Given the description of an element on the screen output the (x, y) to click on. 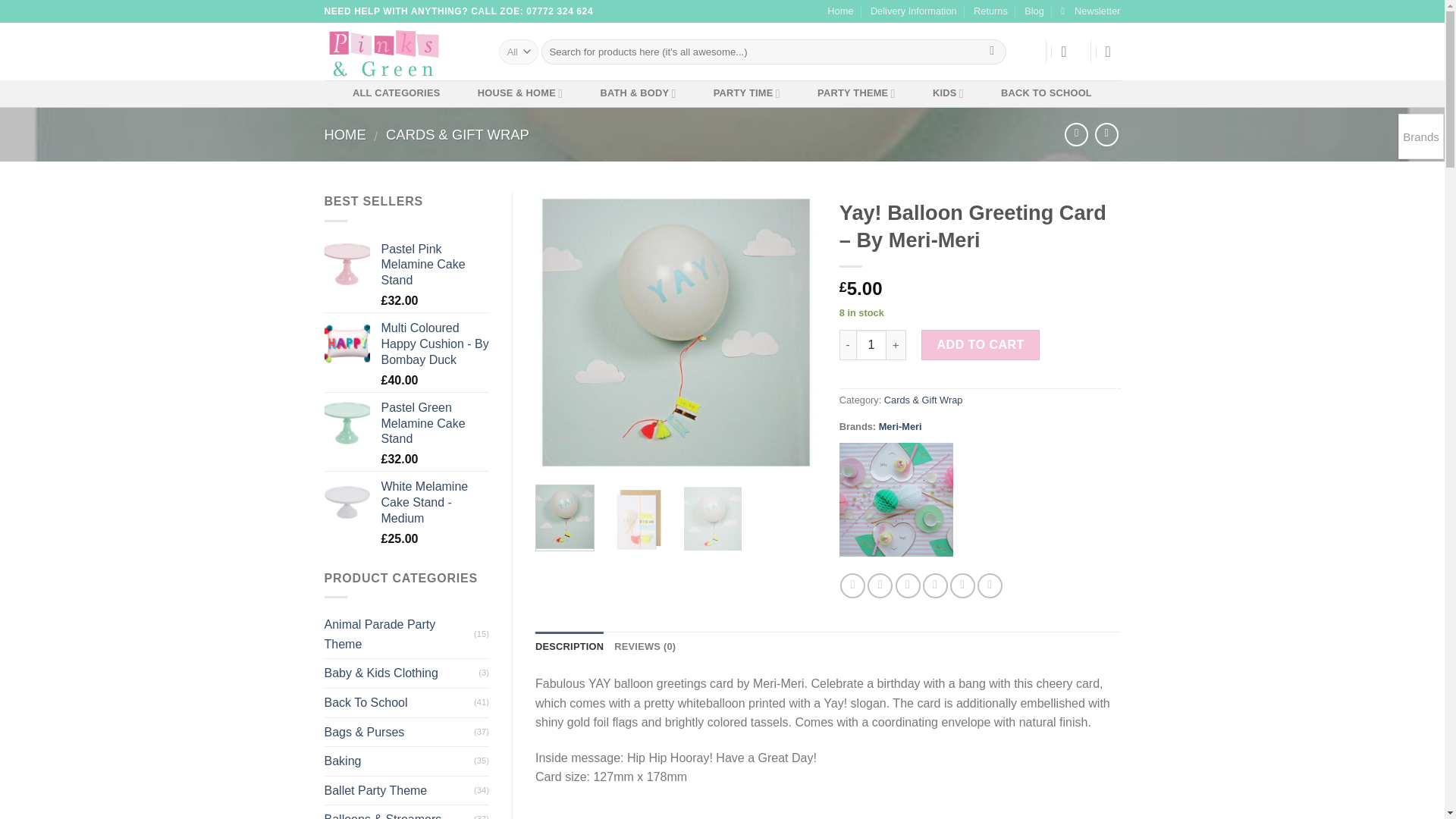
Newsletter (1090, 11)
ALL CATEGORIES (395, 93)
Returns (990, 11)
yay balloon card (675, 332)
1 (871, 345)
Delivery Information (913, 11)
Qty (871, 345)
PARTY TIME (746, 93)
Home (840, 11)
